Given the description of an element on the screen output the (x, y) to click on. 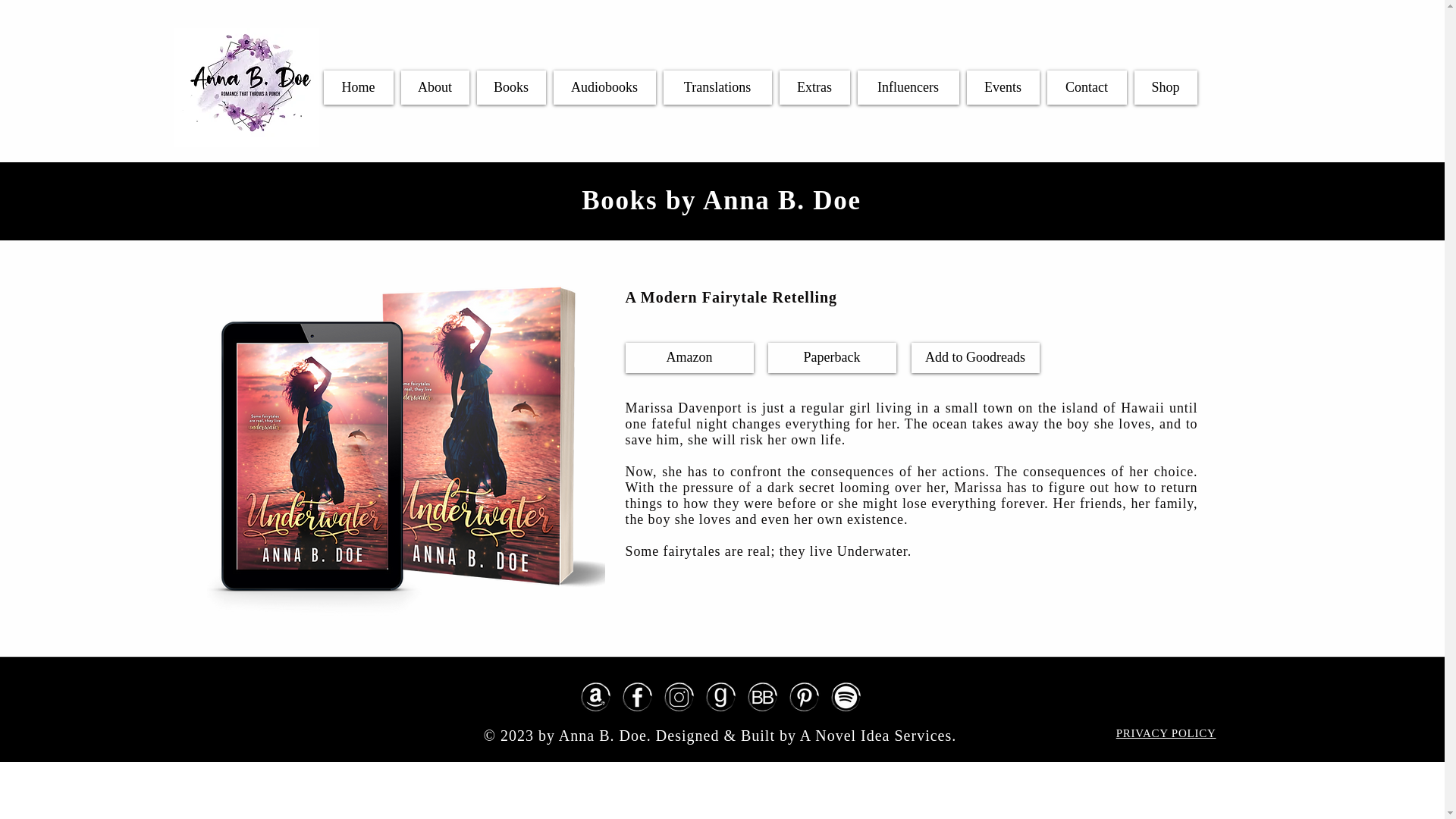
Contact (1085, 87)
About (434, 87)
Amazon (688, 358)
Influencers (907, 87)
Paperback (831, 358)
PRIVACY POLICY (1165, 733)
Add to Goodreads (975, 358)
Audiobooks (604, 87)
Home (358, 87)
Extras (814, 87)
A Novel Idea Services. (877, 735)
Shop (1165, 87)
Events (1002, 87)
Books (510, 87)
Translations (716, 87)
